Given the description of an element on the screen output the (x, y) to click on. 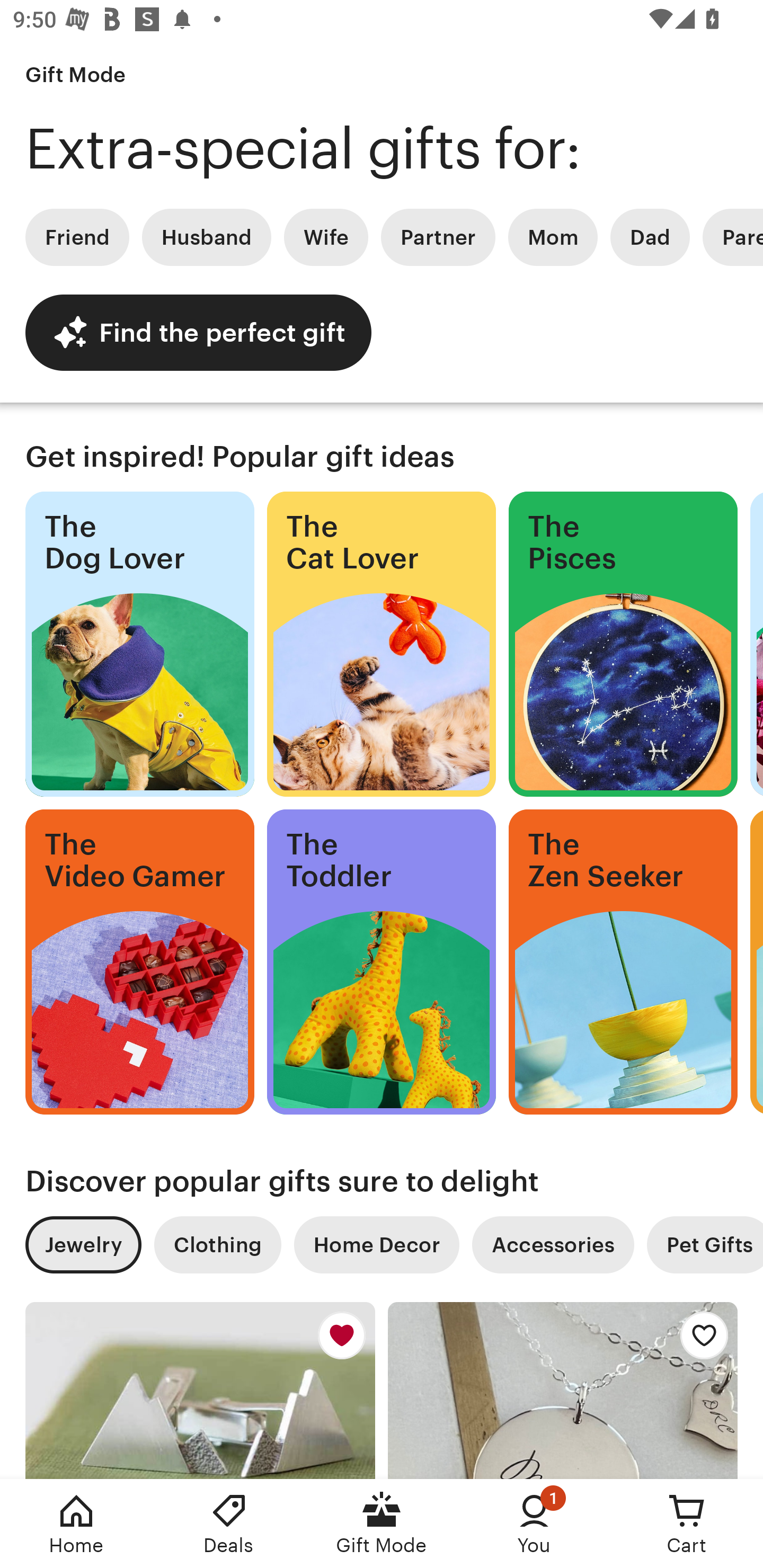
Friend (76, 237)
Husband (206, 237)
Wife (325, 237)
Partner (437, 237)
Mom (552, 237)
Dad (649, 237)
Find the perfect gift (198, 332)
The Dog Lover (139, 644)
The Cat Lover (381, 644)
The Pisces (622, 644)
The Video Gamer (139, 961)
The Toddler (381, 961)
The Zen Seeker (622, 961)
Jewelry (83, 1244)
Clothing (217, 1244)
Home Decor (376, 1244)
Accessories (553, 1244)
Pet Gifts (705, 1244)
Home (76, 1523)
Deals (228, 1523)
You, 1 new notification You (533, 1523)
Cart (686, 1523)
